Given the description of an element on the screen output the (x, y) to click on. 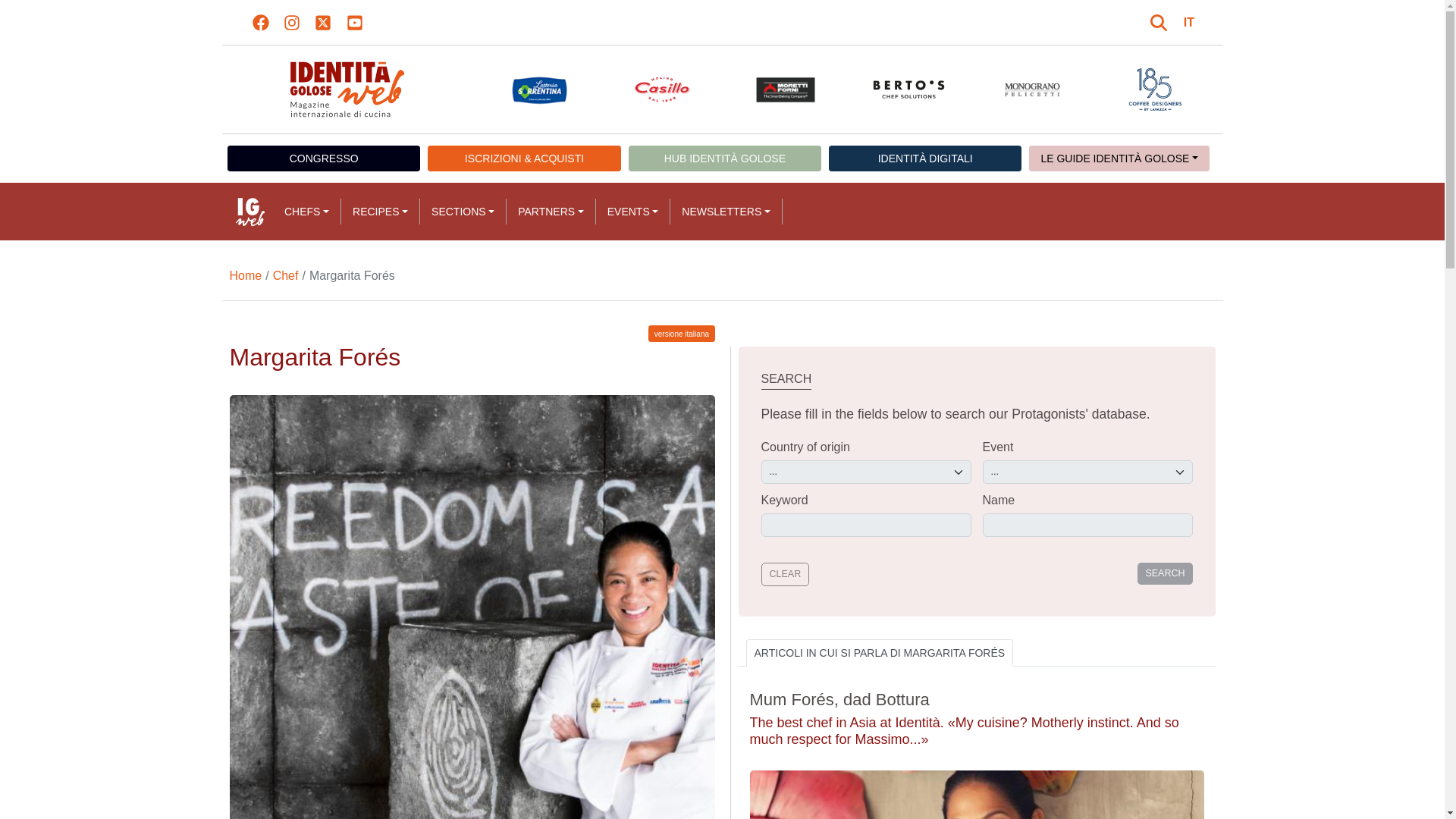
Molino Casillo (661, 89)
Youtube (354, 22)
SEARCH (1164, 573)
Latteria Sorrentina leggi le news (539, 89)
Cerca (1160, 22)
Instagram (291, 22)
Acqua Panna S.Pellegrino leggi le news (417, 89)
Forni Moretti leggi le news (785, 89)
CONGRESSO (323, 158)
Facebook (260, 22)
CHEFS (307, 211)
ENG Monograno Felicetti leggi le news (1032, 89)
Twitter (323, 22)
Berto's leggi le news (909, 89)
